Given the description of an element on the screen output the (x, y) to click on. 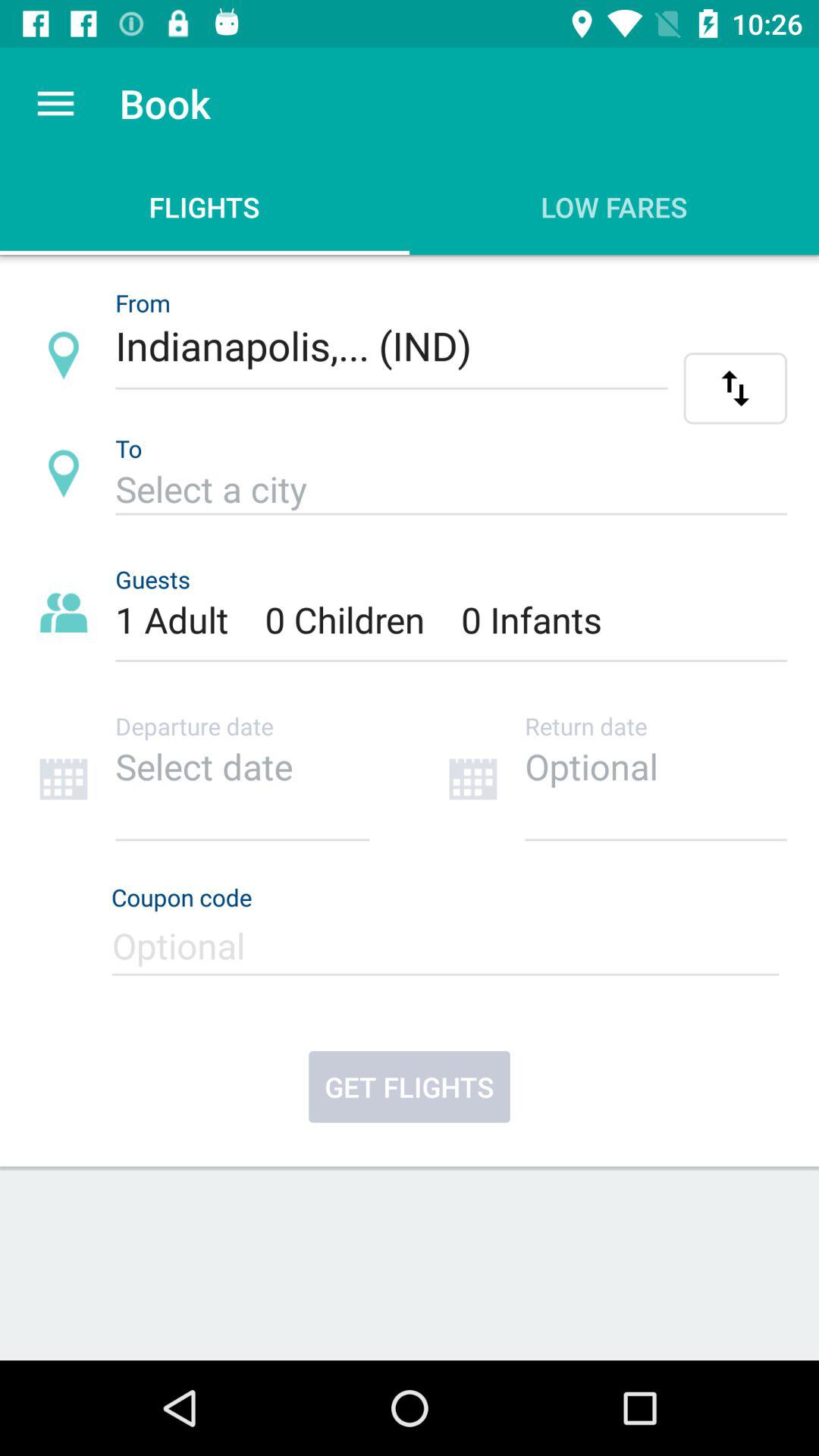
flip location button (735, 388)
